Given the description of an element on the screen output the (x, y) to click on. 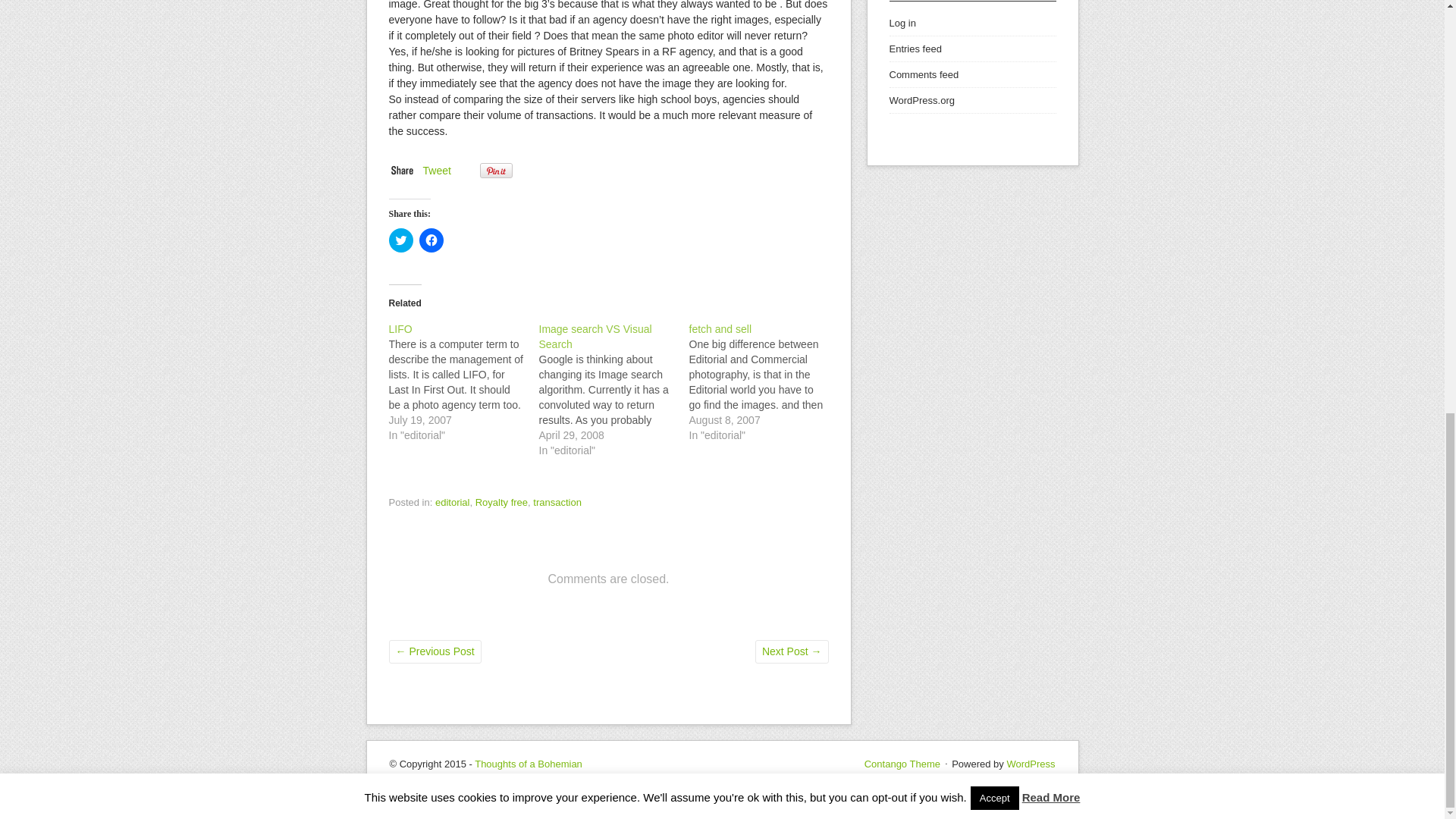
fetch and sell (719, 328)
LIFO (463, 382)
editorial (452, 501)
Click to share on Facebook (430, 240)
Click to share on Twitter (400, 240)
WordPress.org (920, 100)
transaction (556, 501)
Thoughts of a Bohemian (528, 763)
Image search VS Visual Search (594, 336)
Image search VS Visual Search (594, 336)
